Given the description of an element on the screen output the (x, y) to click on. 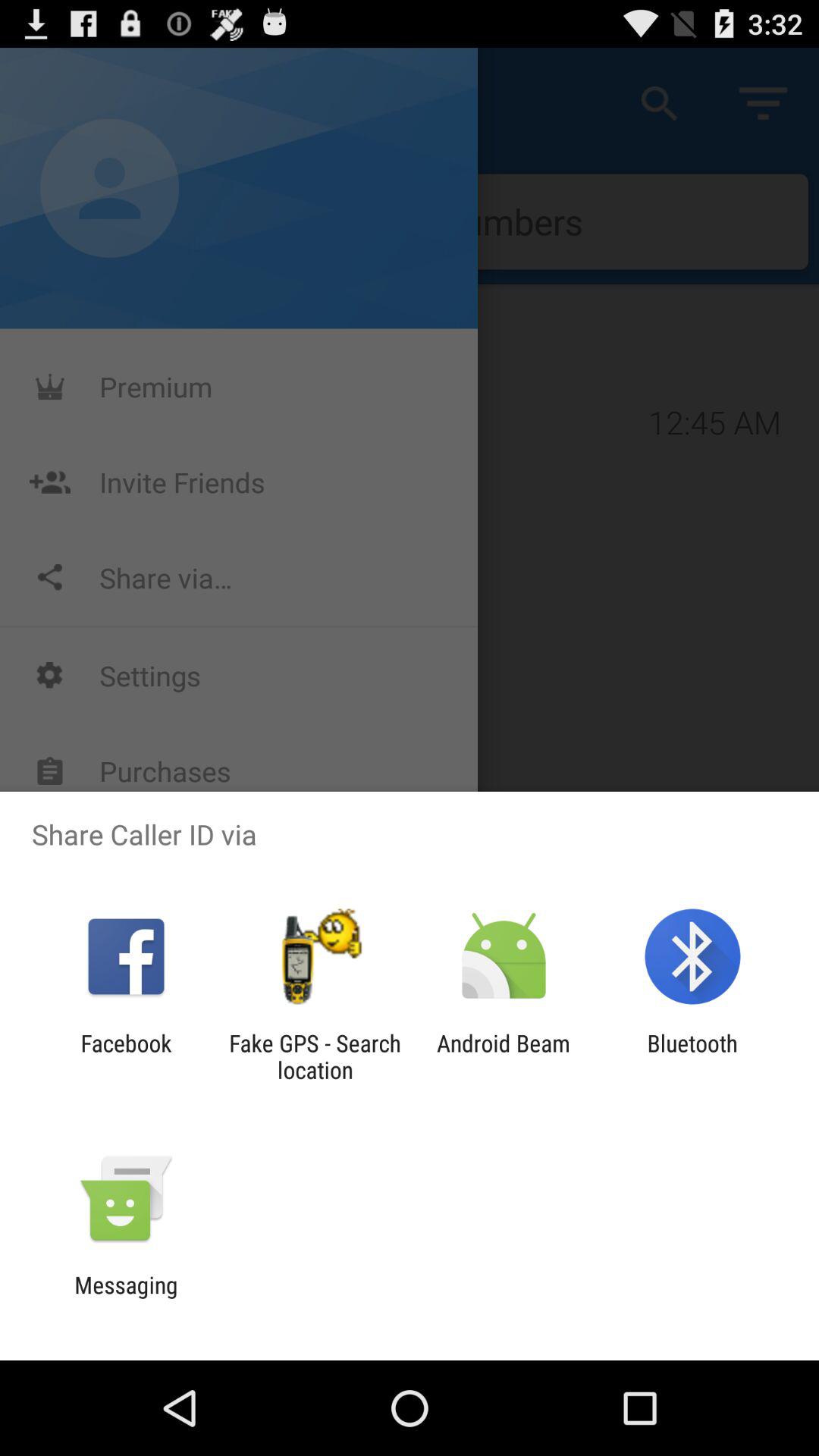
turn off the icon next to the facebook icon (314, 1056)
